Given the description of an element on the screen output the (x, y) to click on. 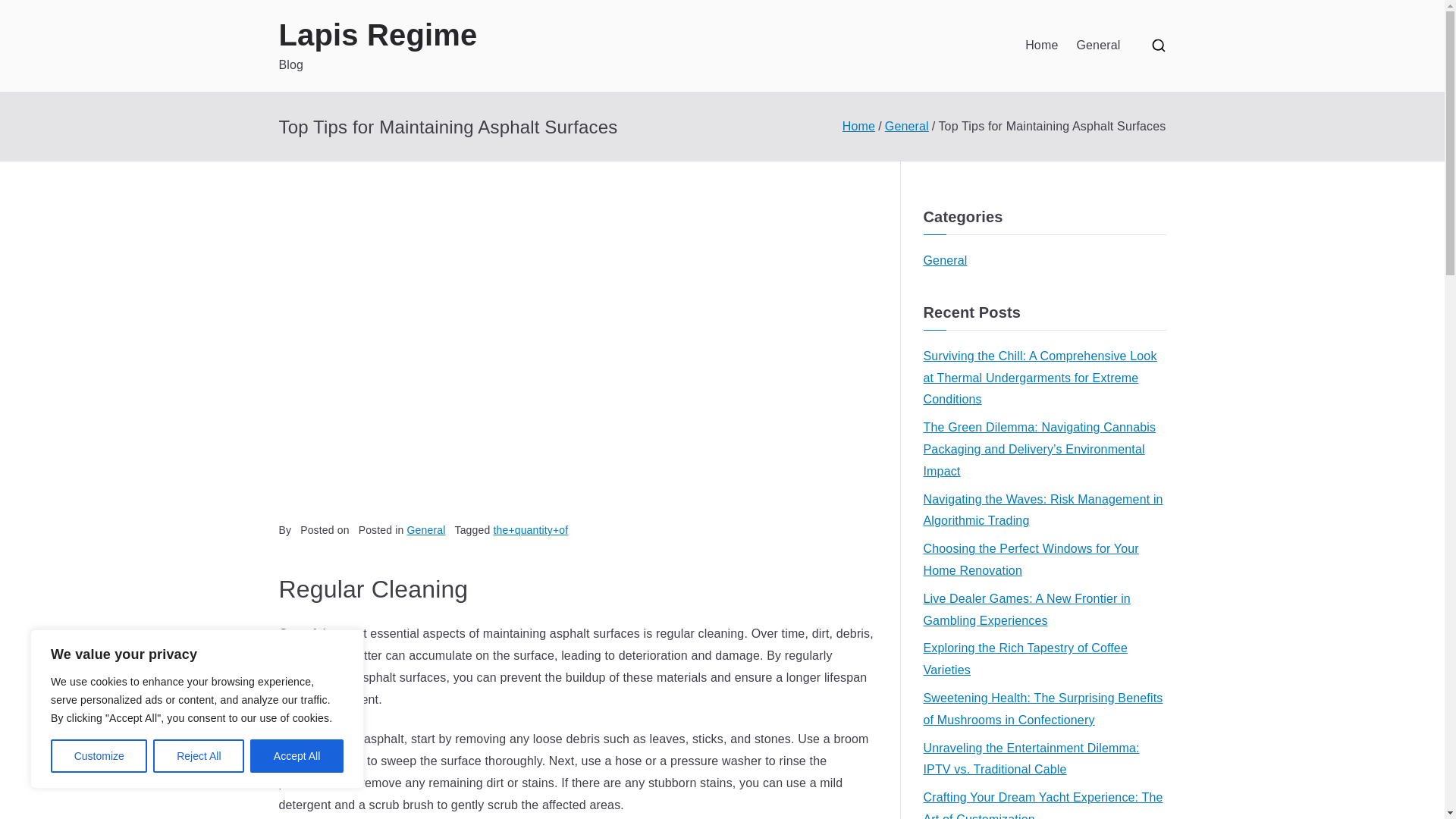
Home (1041, 45)
General (945, 260)
General (426, 530)
Home (859, 125)
Accept All (296, 756)
General (1097, 45)
General (906, 125)
Customize (98, 756)
Reject All (198, 756)
